Given the description of an element on the screen output the (x, y) to click on. 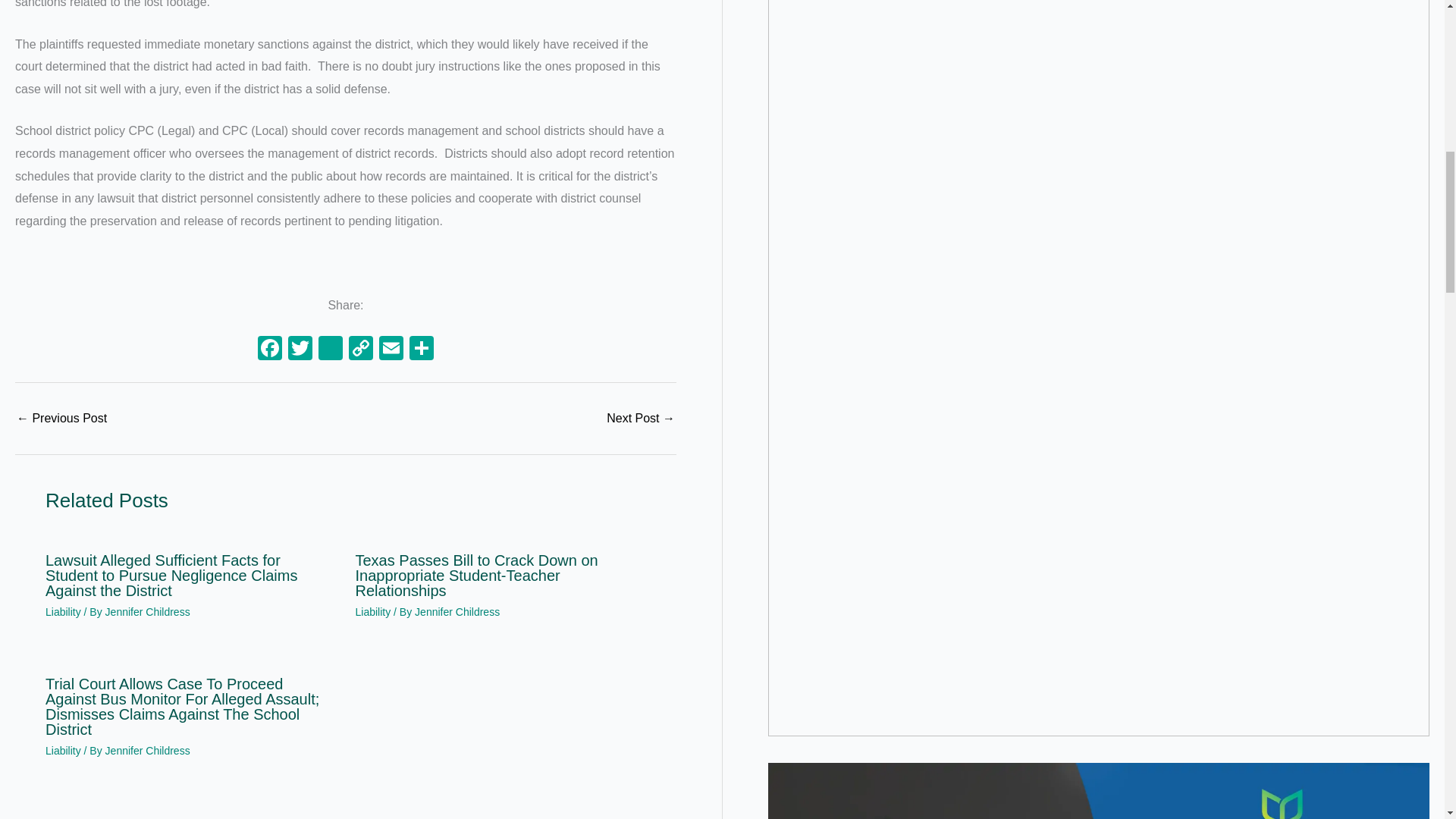
View all posts by Jennifer Childress (147, 612)
Copy Link (360, 349)
View all posts by Jennifer Childress (456, 612)
Twitter (300, 349)
LinkedIn (330, 349)
View all posts by Jennifer Childress (147, 750)
TX School District Helps Immigrants Facing Deportation (61, 418)
Email (390, 349)
Facebook (269, 349)
